Given the description of an element on the screen output the (x, y) to click on. 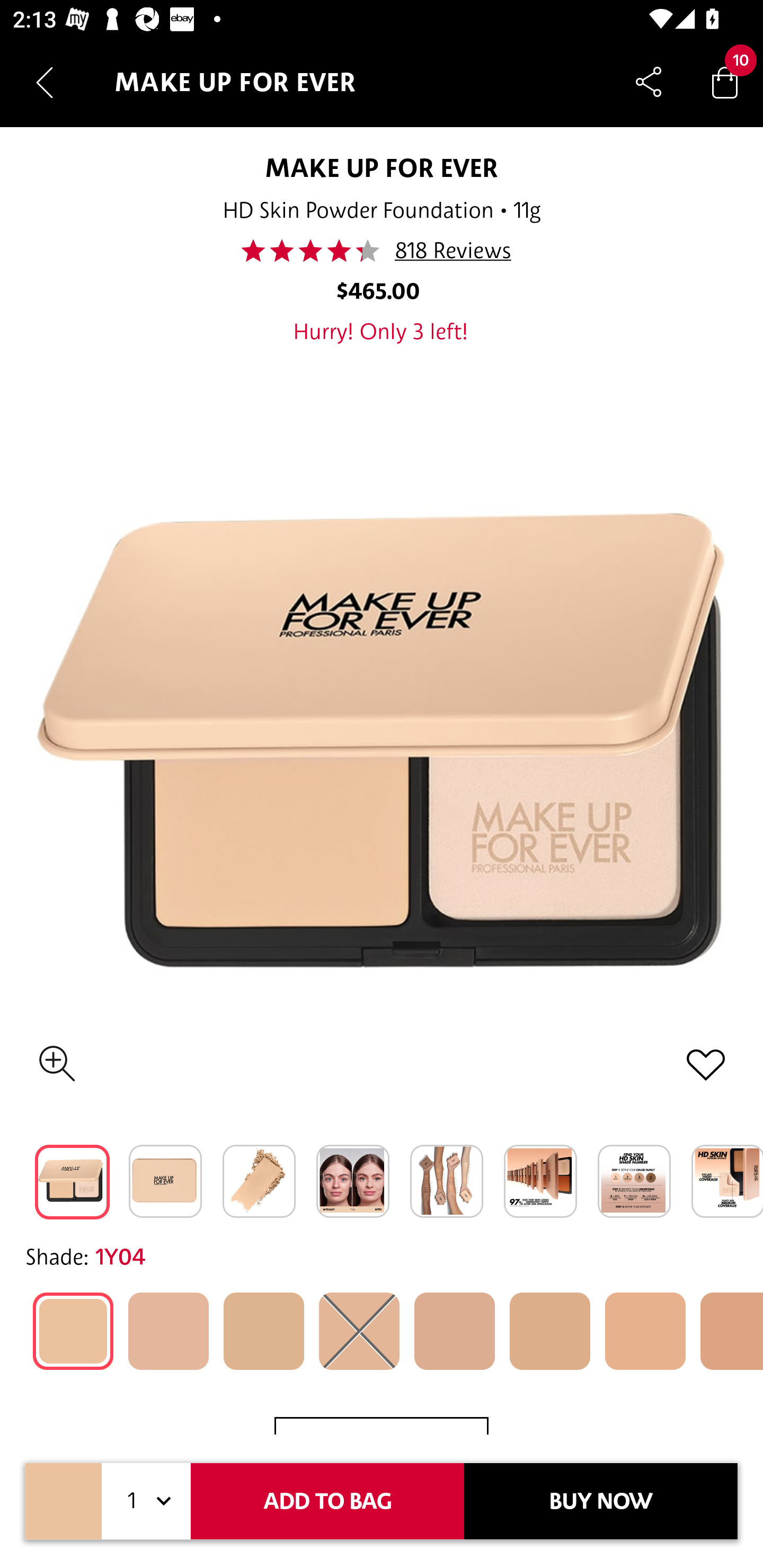
Navigate up (44, 82)
Share (648, 81)
Bag (724, 81)
MAKE UP FOR EVER (381, 167)
43.0 818 Reviews (381, 250)
1 (145, 1500)
ADD TO BAG (326, 1500)
BUY NOW (600, 1500)
